Given the description of an element on the screen output the (x, y) to click on. 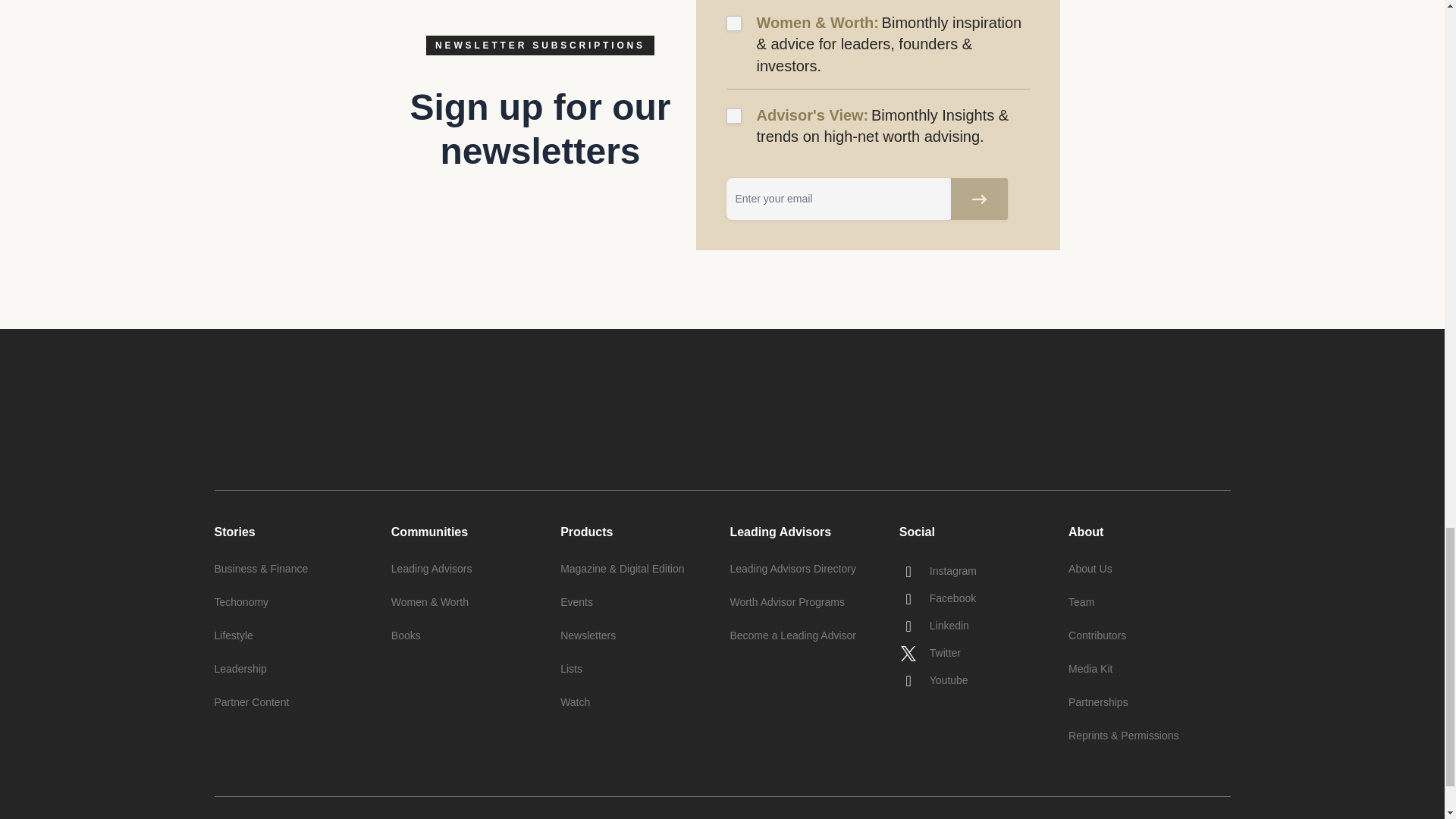
yes (733, 23)
yes (733, 115)
